Given the description of an element on the screen output the (x, y) to click on. 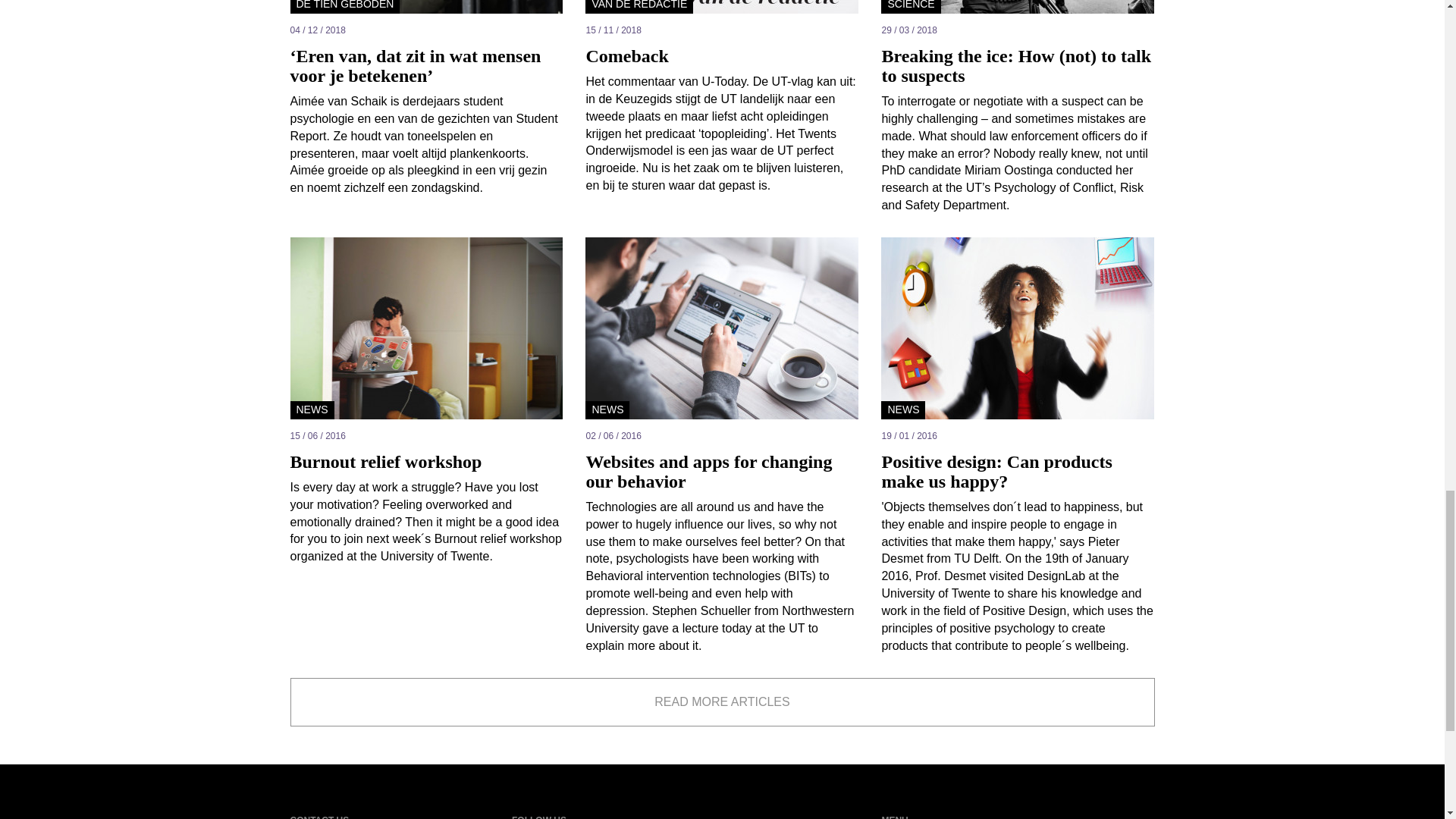
2018-12-04 15:20 (425, 30)
READ MORE ARTICLES (721, 702)
2018-03-29 10:19 (1017, 30)
2016-06-15 11:36 (425, 435)
2018-11-15 14:29 (722, 30)
